Given the description of an element on the screen output the (x, y) to click on. 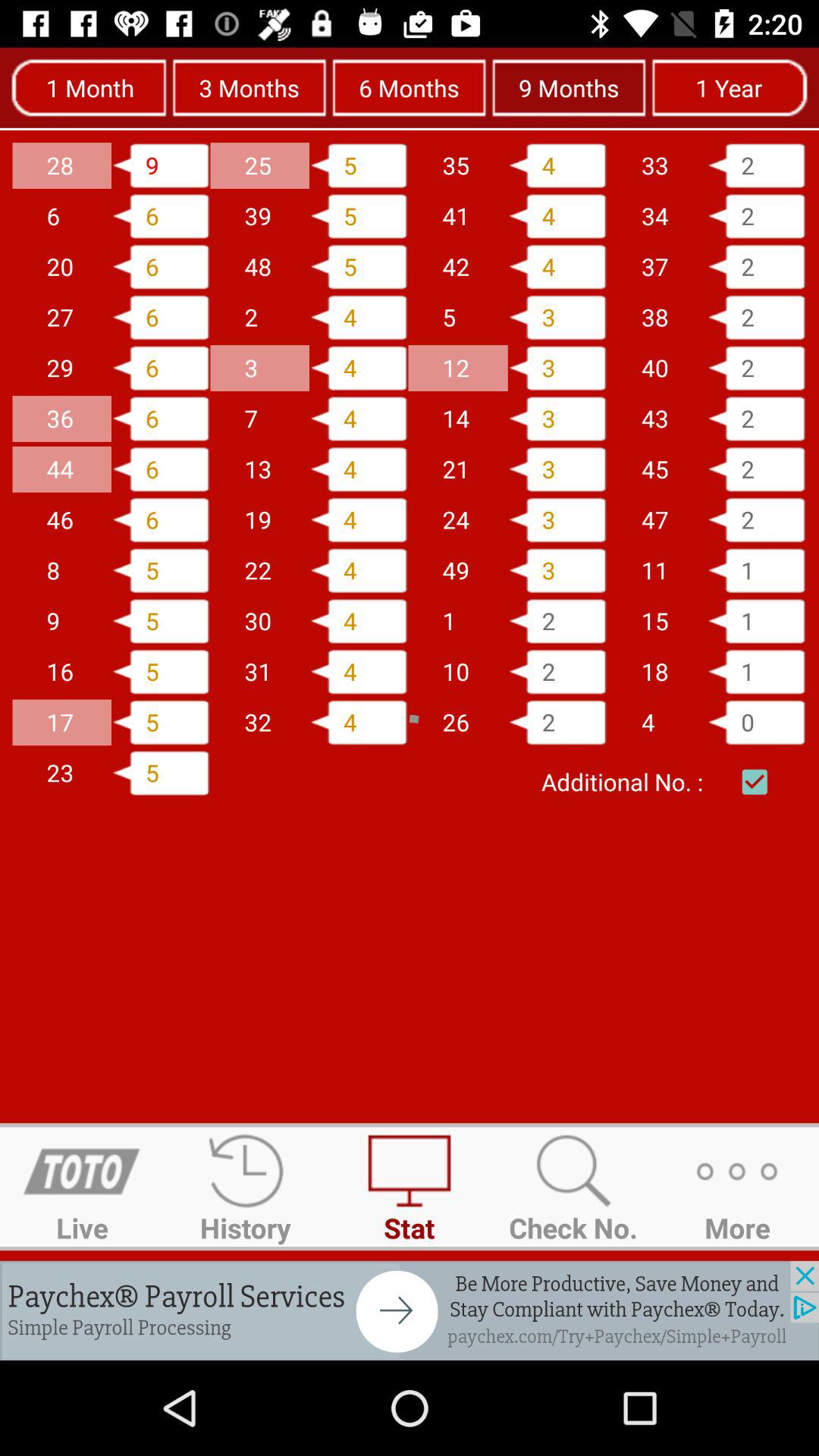
check for additional number (754, 781)
